Given the description of an element on the screen output the (x, y) to click on. 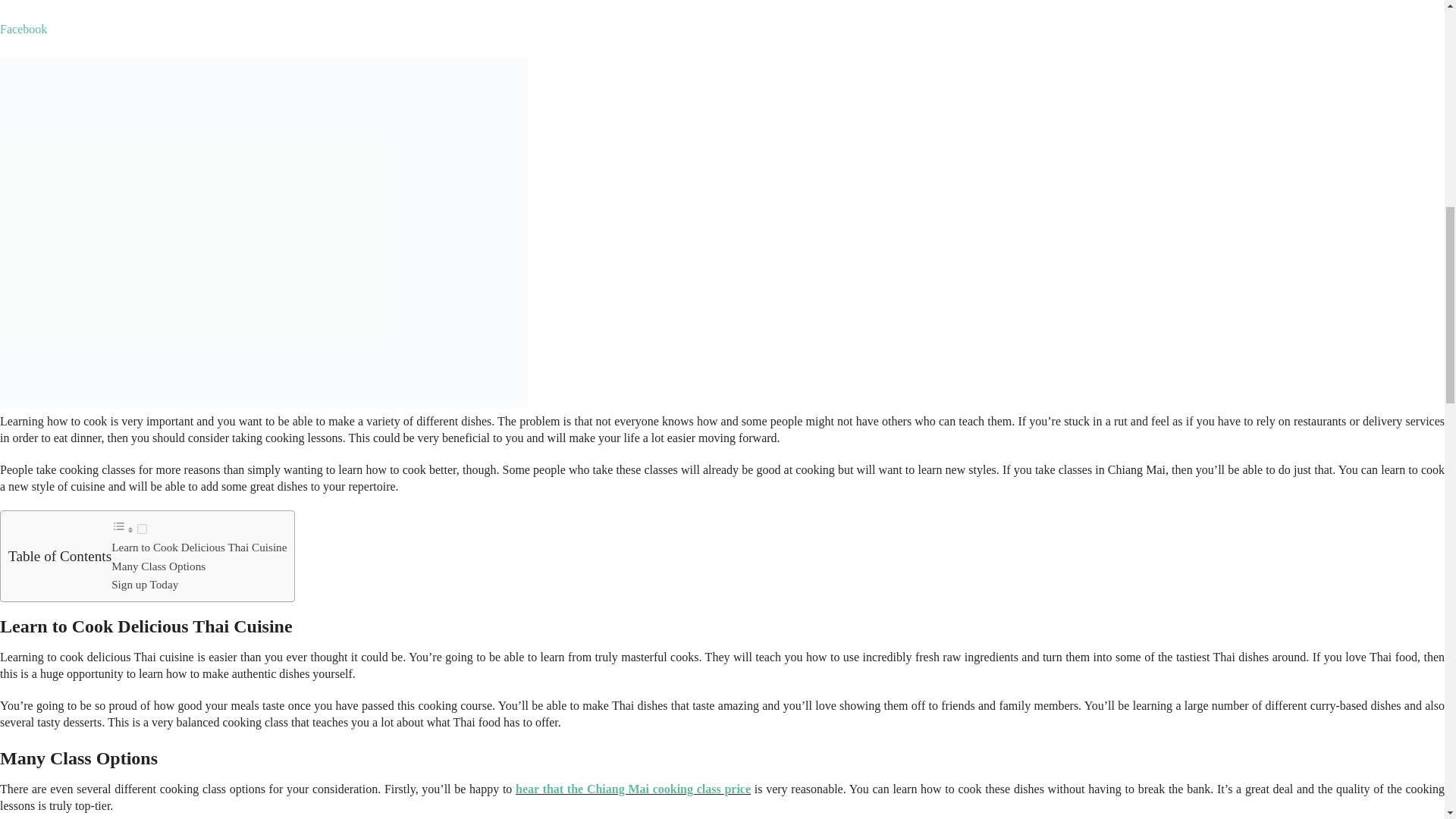
hear that the Chiang Mai cooking class price (633, 788)
Learn to Cook Delicious Thai Cuisine (199, 546)
Many Class Options (158, 565)
Learn to Cook Delicious Thai Cuisine (199, 546)
Many Class Options (158, 565)
on (141, 528)
Sign up Today (144, 584)
Sign up Today (144, 584)
